Given the description of an element on the screen output the (x, y) to click on. 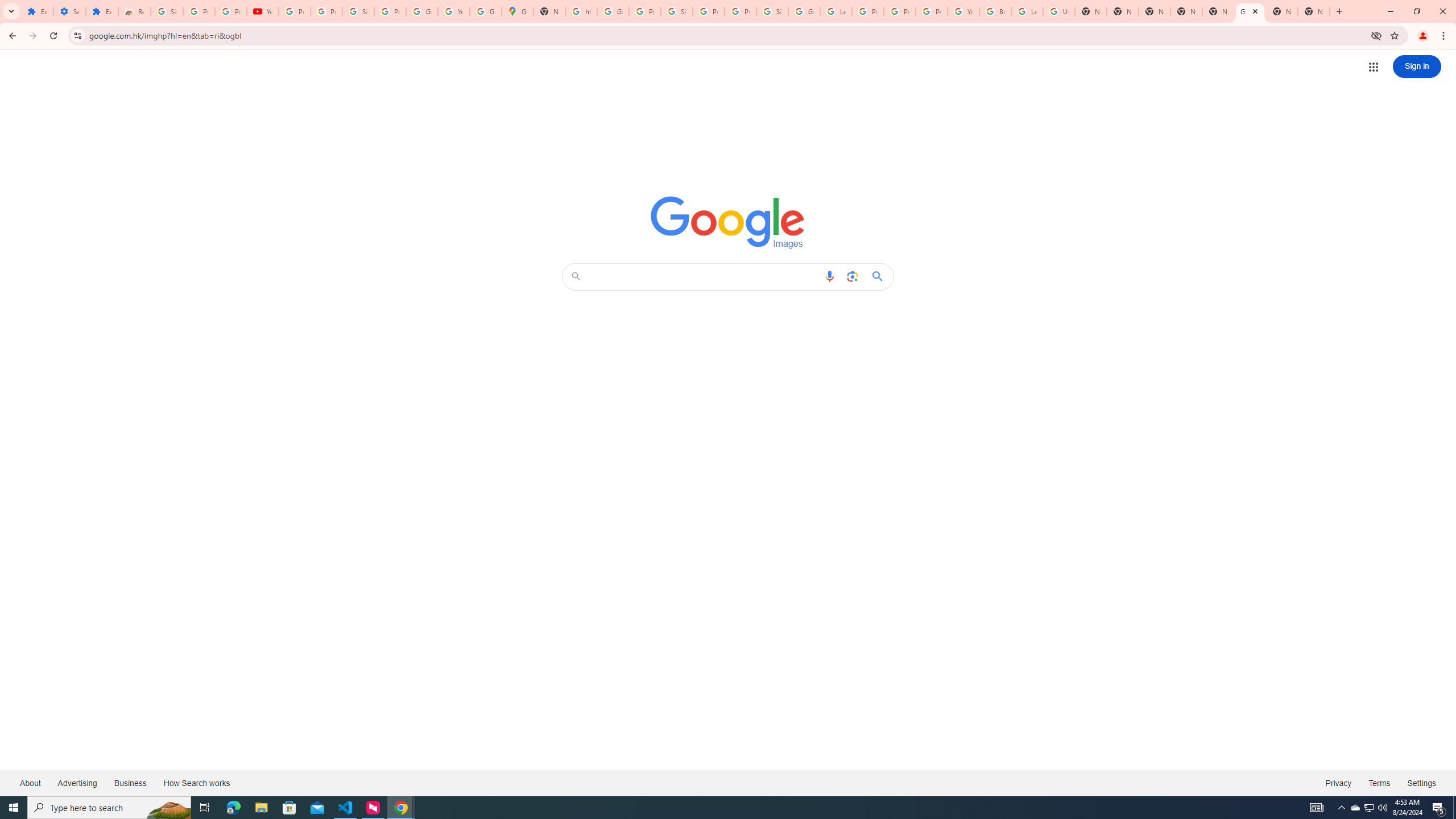
Google Maps (517, 11)
YouTube (262, 11)
